Given the description of an element on the screen output the (x, y) to click on. 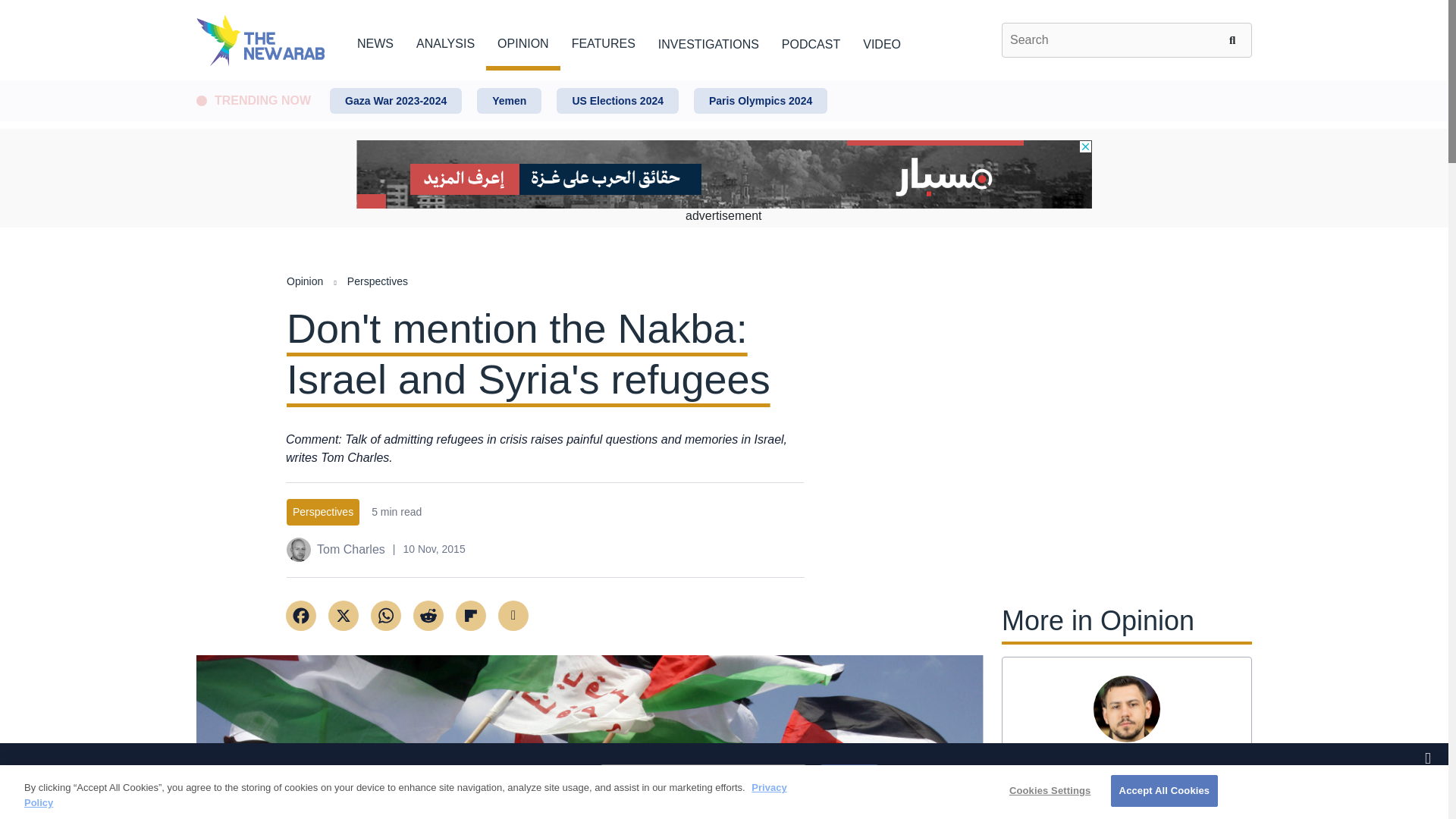
NEWS (375, 41)
OPINION (523, 41)
Search (1234, 39)
Skip to main content (724, 81)
ANALYSIS (445, 41)
